Given the description of an element on the screen output the (x, y) to click on. 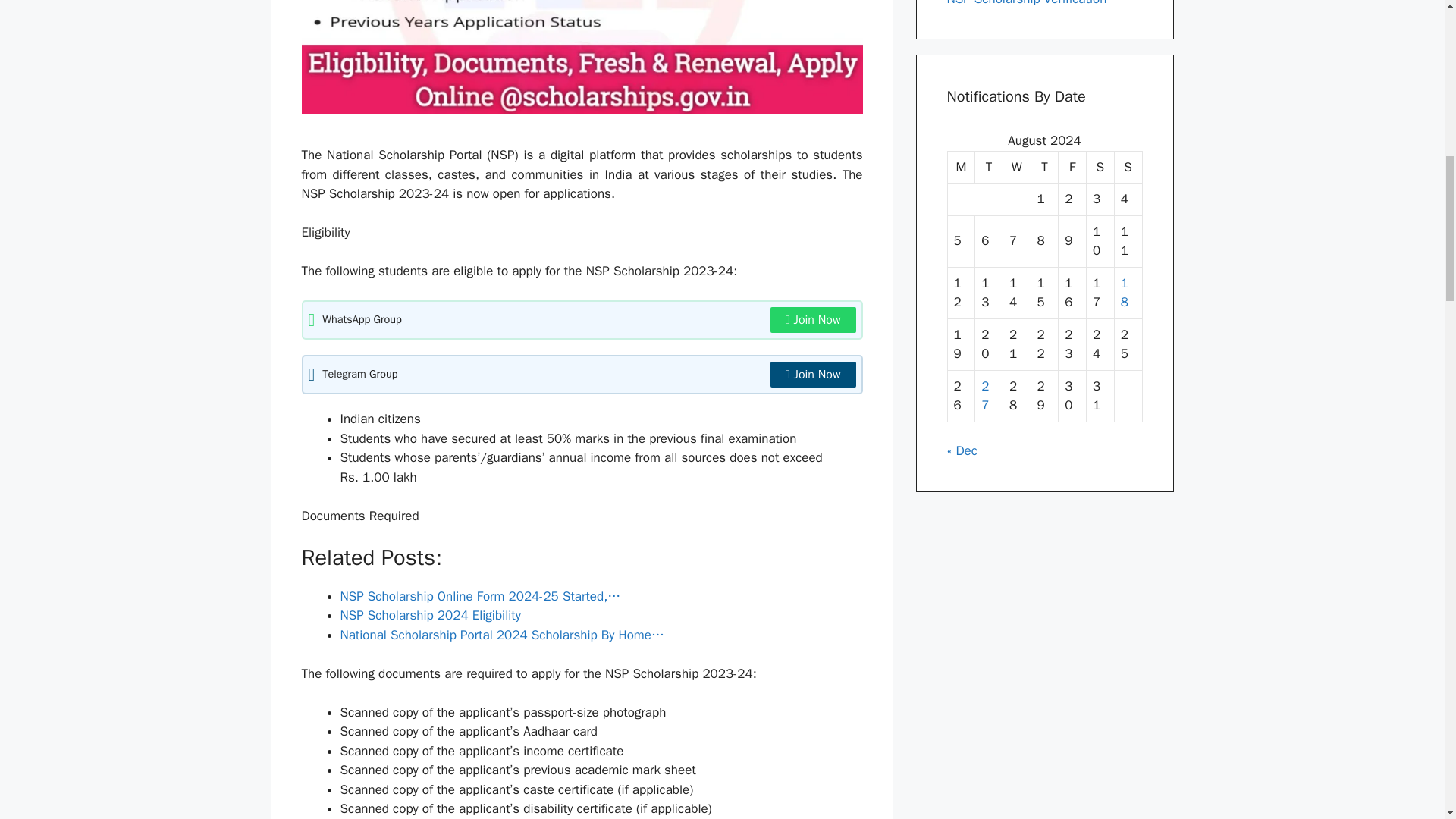
Join Now (813, 374)
Join Now (813, 319)
NSP Scholarship 2024 Eligibility (429, 615)
